Given the description of an element on the screen output the (x, y) to click on. 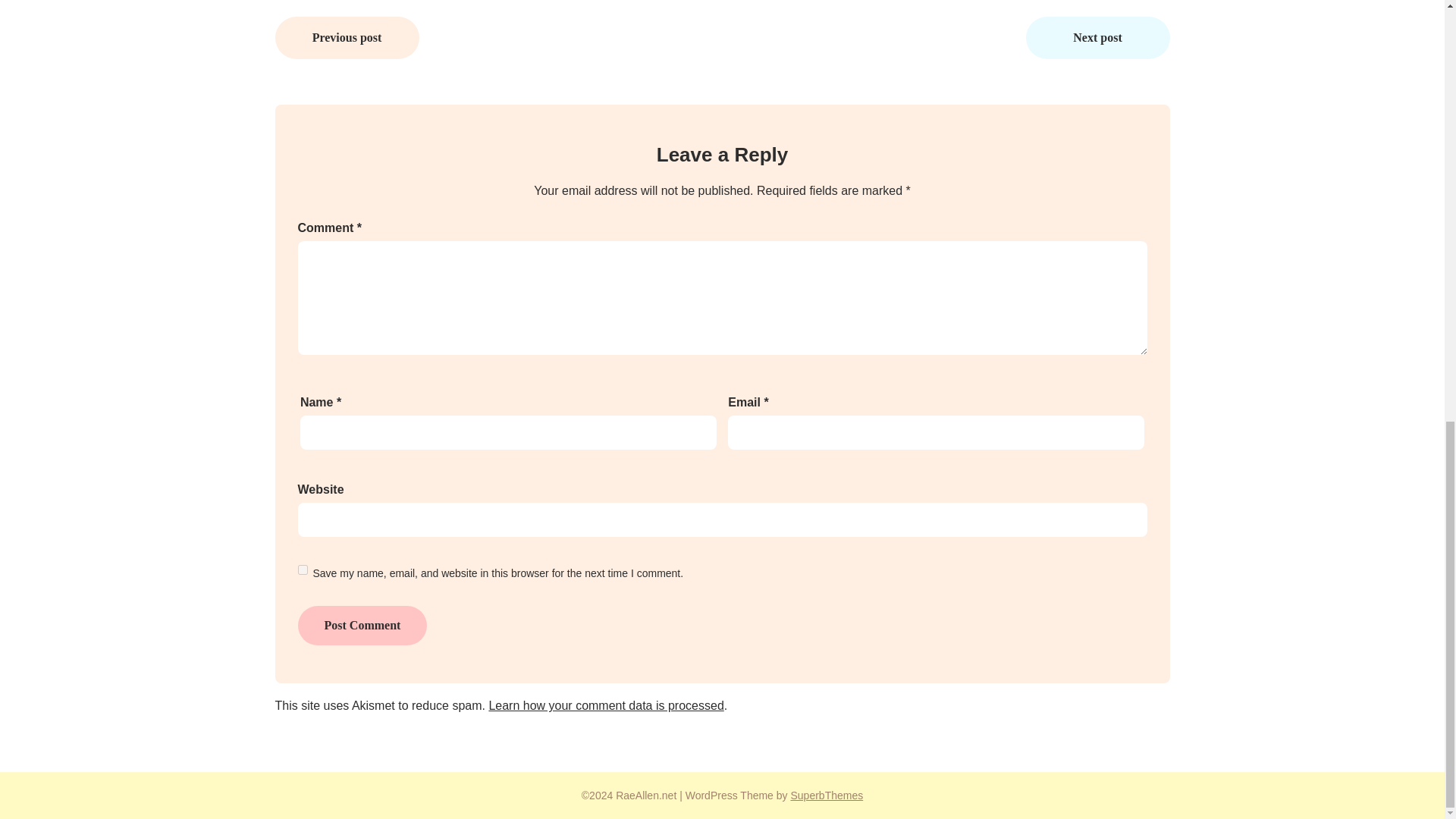
yes (302, 569)
Next post (1097, 37)
Post Comment (361, 625)
Previous post (347, 37)
SuperbThemes (826, 795)
Learn how your comment data is processed (605, 705)
Post Comment (361, 625)
